Given the description of an element on the screen output the (x, y) to click on. 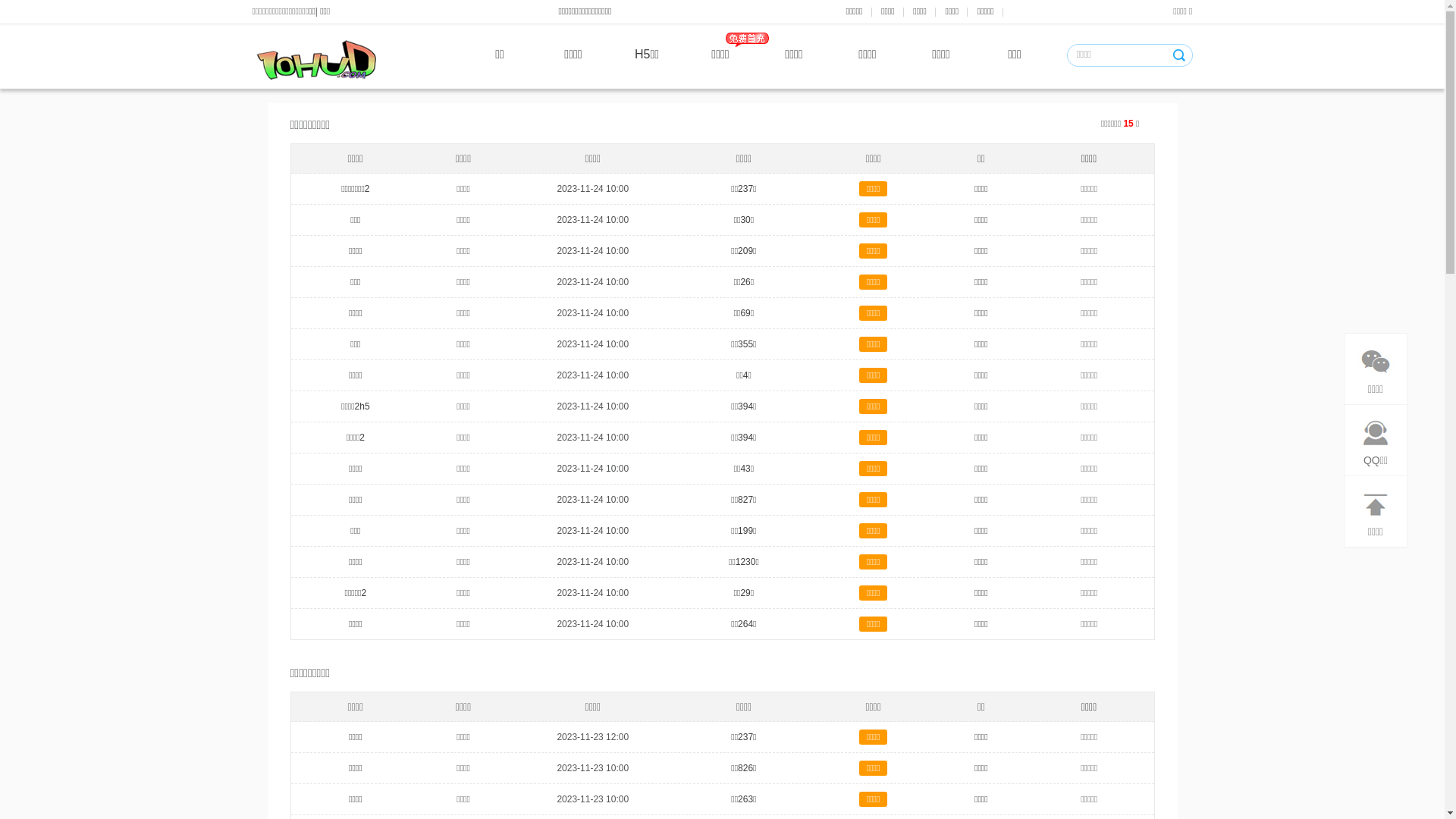
hot Element type: hover (746, 40)
